Given the description of an element on the screen output the (x, y) to click on. 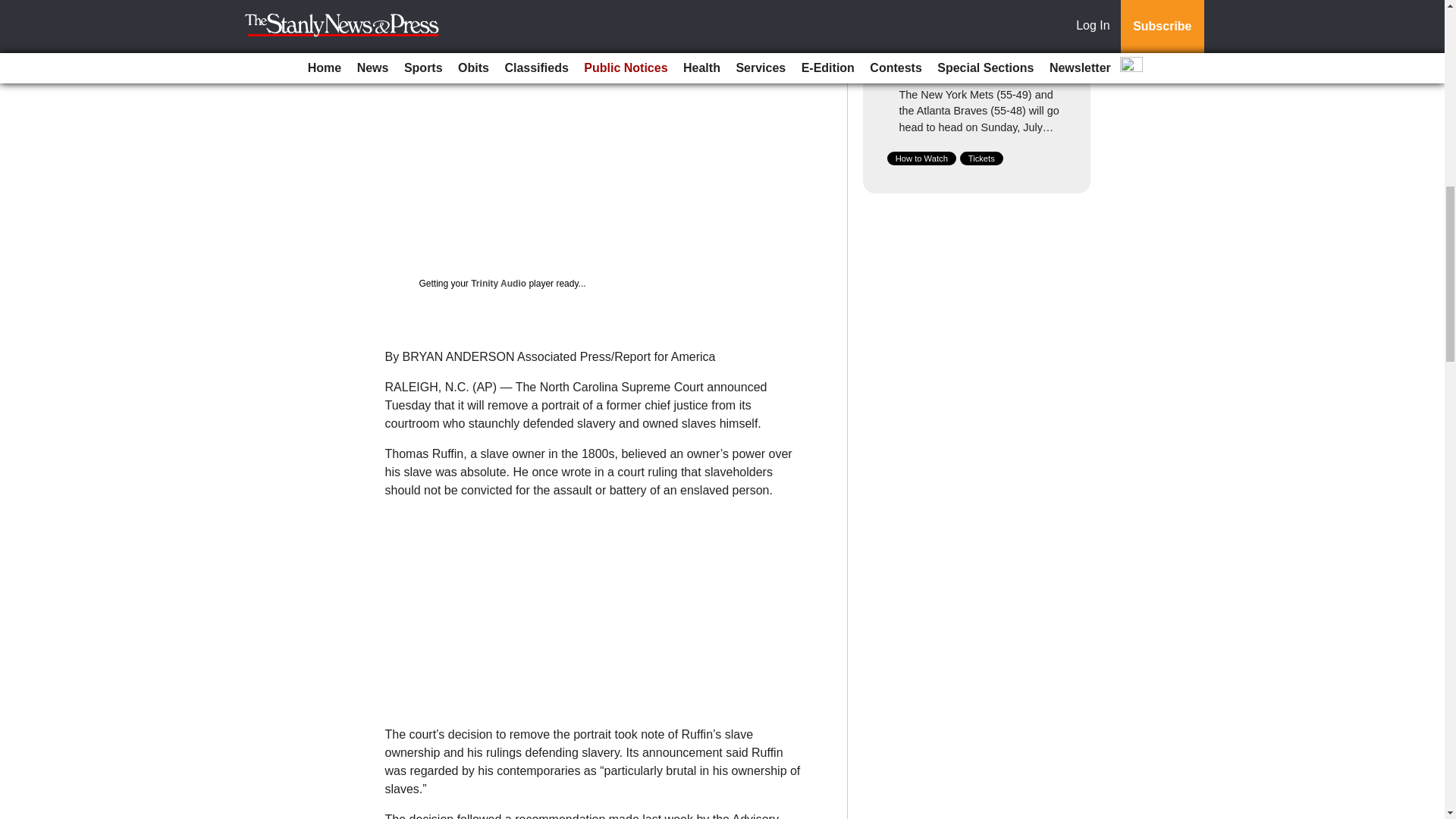
Trinity Audio (497, 283)
